Given the description of an element on the screen output the (x, y) to click on. 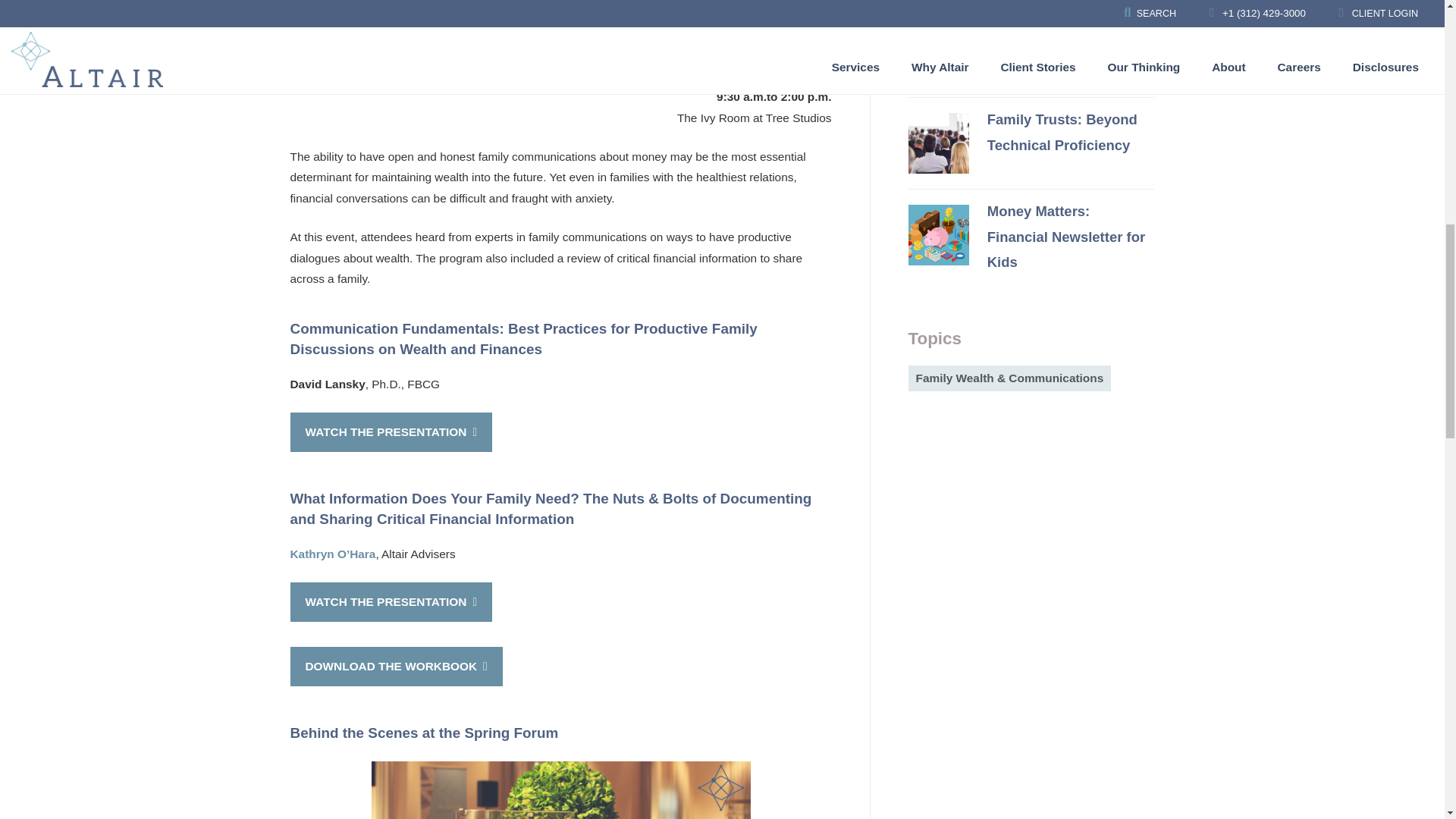
WATCH THE PRESENTATION (390, 432)
